Given the description of an element on the screen output the (x, y) to click on. 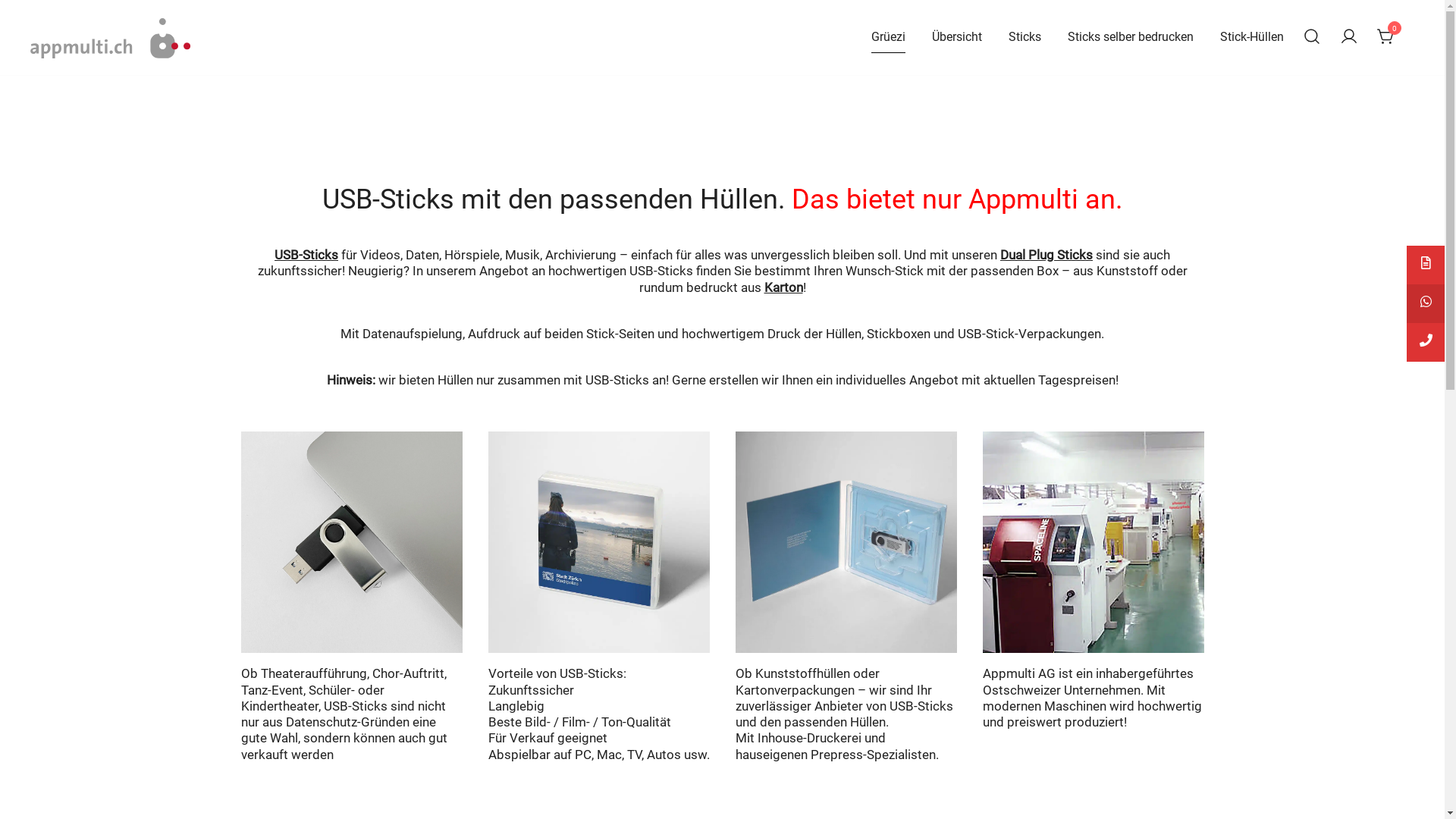
0 Element type: text (1386, 35)
Sticks selber bedrucken Element type: text (1130, 37)
USB-Sticks Element type: text (306, 254)
Karton Element type: text (783, 286)
Appmulti AG Element type: text (74, 74)
Ein Produkt suchen Element type: hover (1311, 37)
Dual Plug Sticks Element type: text (1046, 254)
Sticks Element type: text (1024, 37)
Dein Konto Element type: hover (1348, 37)
